Given the description of an element on the screen output the (x, y) to click on. 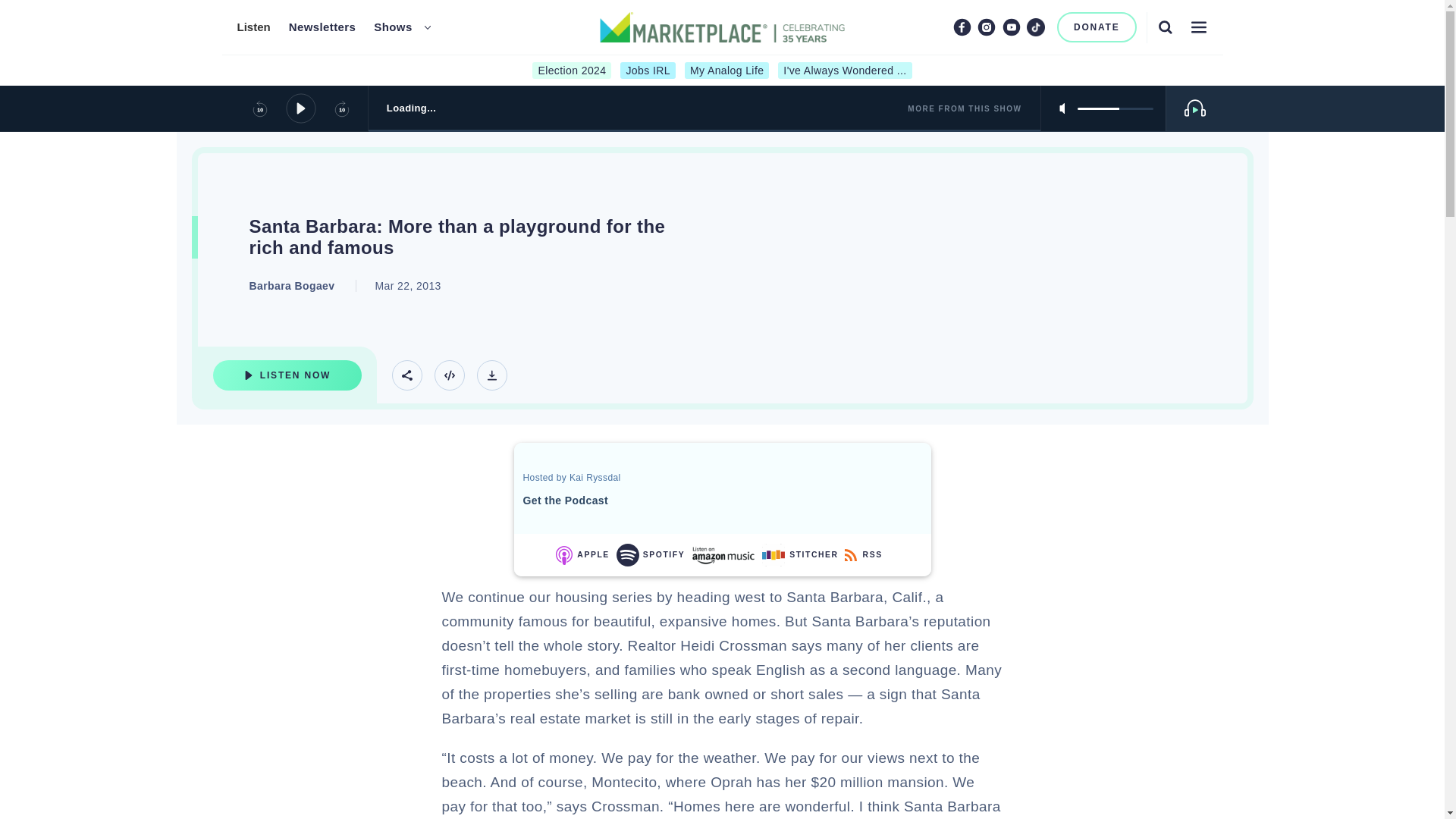
volume (1115, 108)
Search (1164, 27)
Youtube (1011, 27)
Instagram (985, 27)
DONATE (1097, 27)
Download Track (491, 374)
Playback 10 Seconds (259, 108)
Newsletters (322, 27)
Skip 10 Seconds (341, 108)
TikTok (1035, 27)
Facebook (962, 27)
Listen Now (286, 374)
Shows (393, 26)
Listen (252, 26)
Menu (1198, 27)
